Given the description of an element on the screen output the (x, y) to click on. 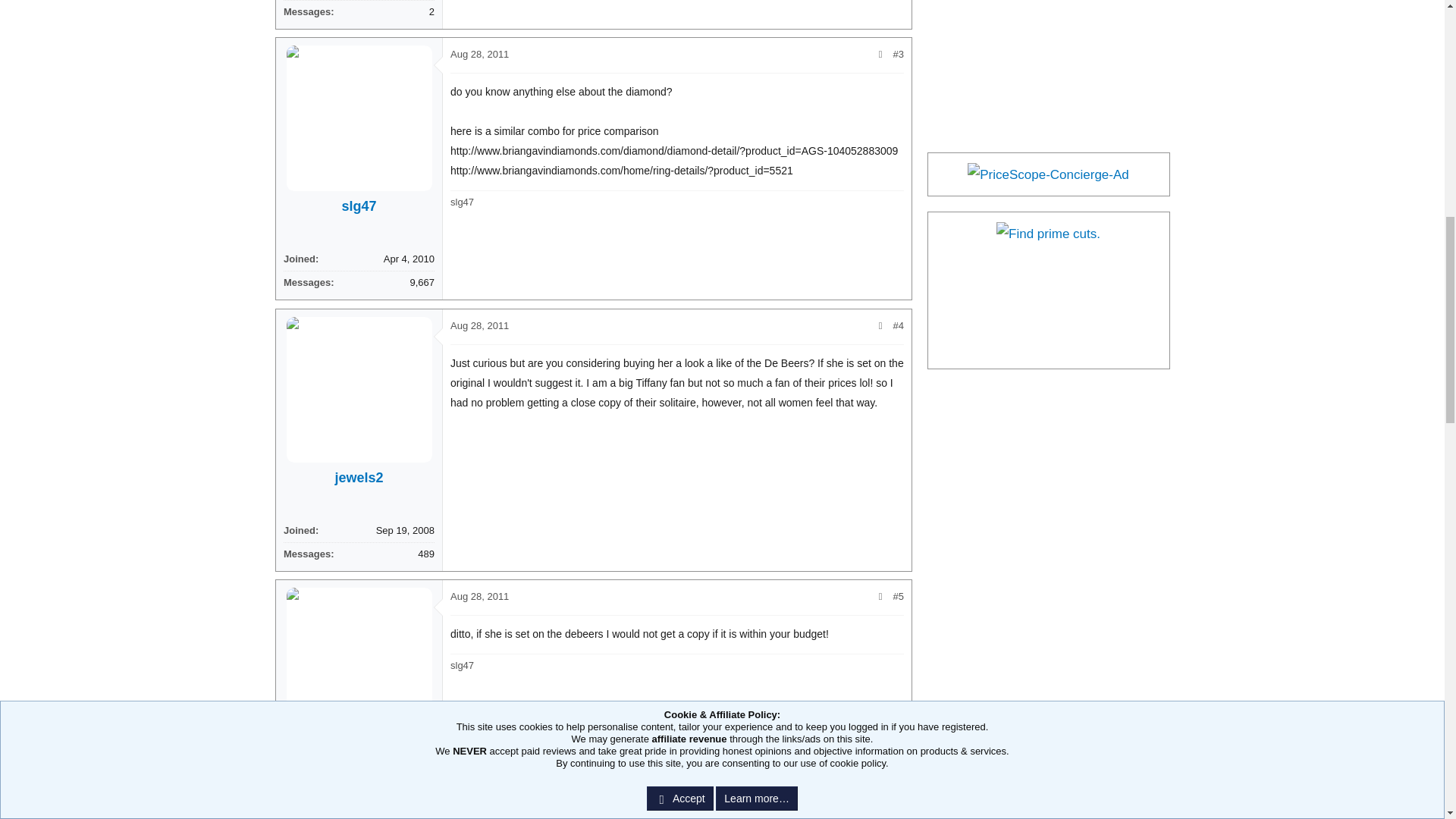
Aug 28, 2011 at 8:01 PM (478, 595)
Aug 28, 2011 at 7:43 PM (478, 325)
Aug 28, 2011 at 6:17 PM (478, 53)
